Given the description of an element on the screen output the (x, y) to click on. 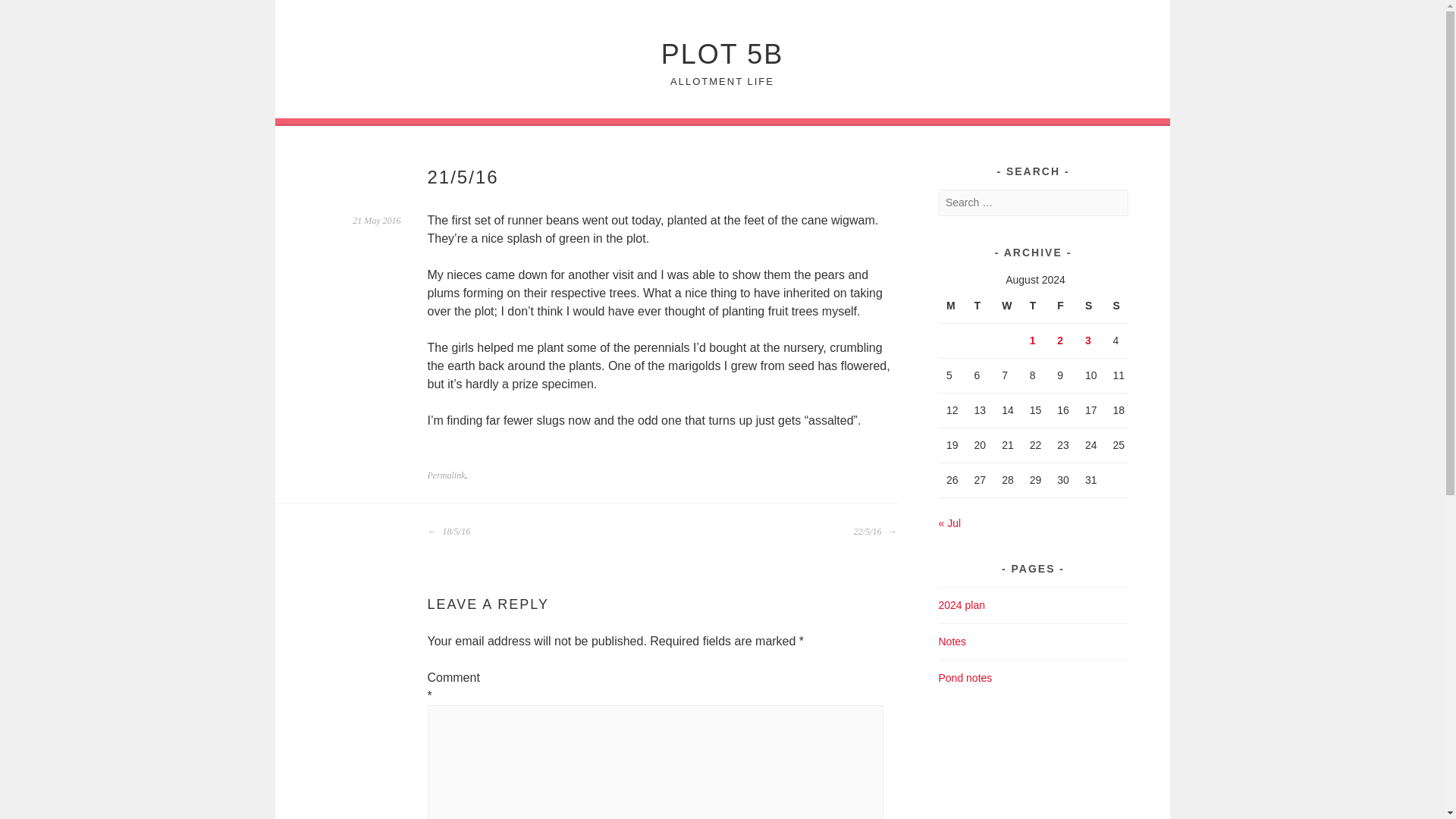
PLOT 5B (722, 53)
Notes (952, 641)
21 May 2016 (376, 220)
Plot 5B (722, 53)
Search (30, 13)
Permalink (446, 475)
Pond notes (965, 677)
2024 plan (962, 604)
